Given the description of an element on the screen output the (x, y) to click on. 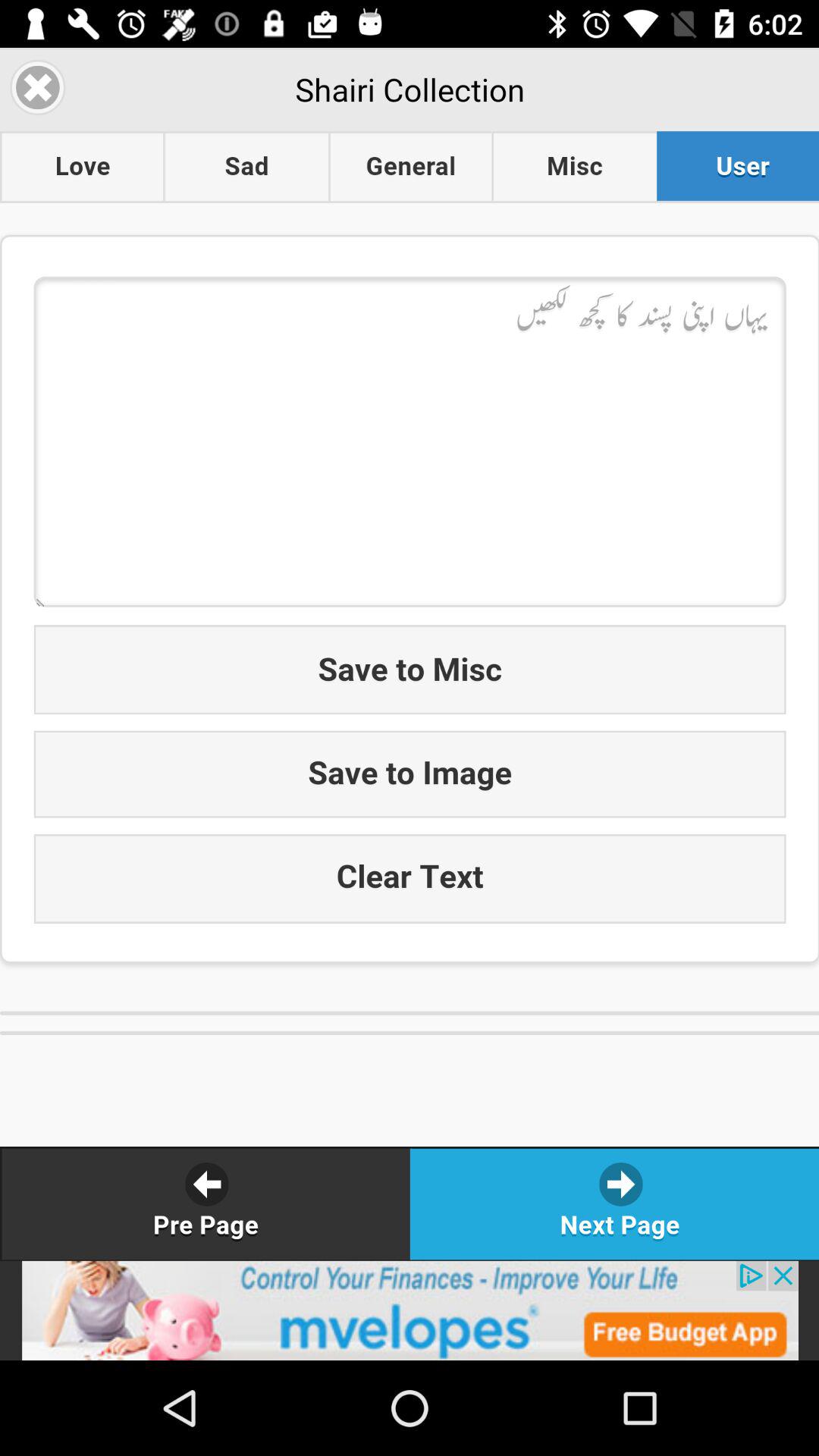
advertisement option (409, 1310)
